Given the description of an element on the screen output the (x, y) to click on. 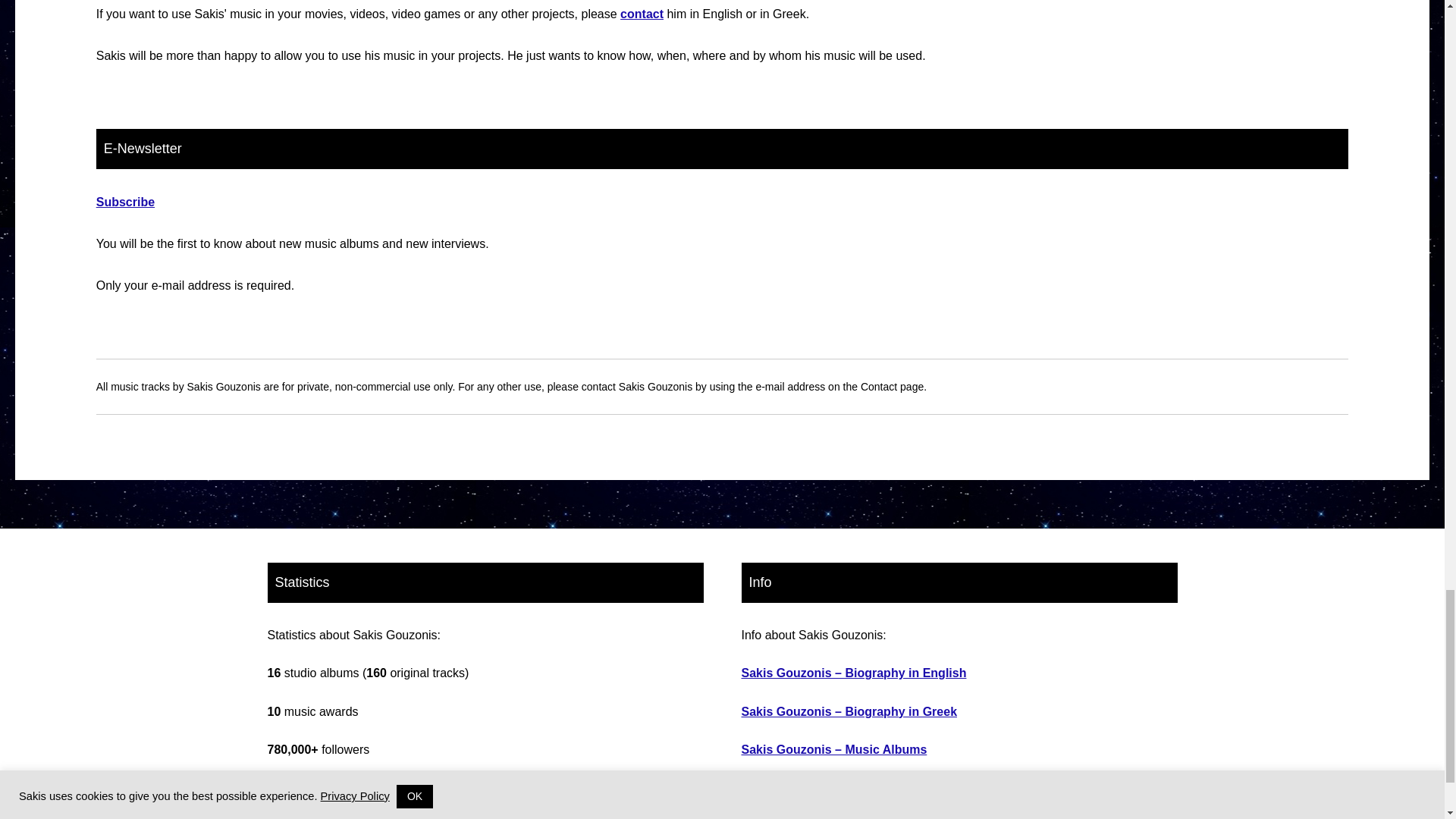
contact (641, 13)
Subscribe (125, 201)
